Given the description of an element on the screen output the (x, y) to click on. 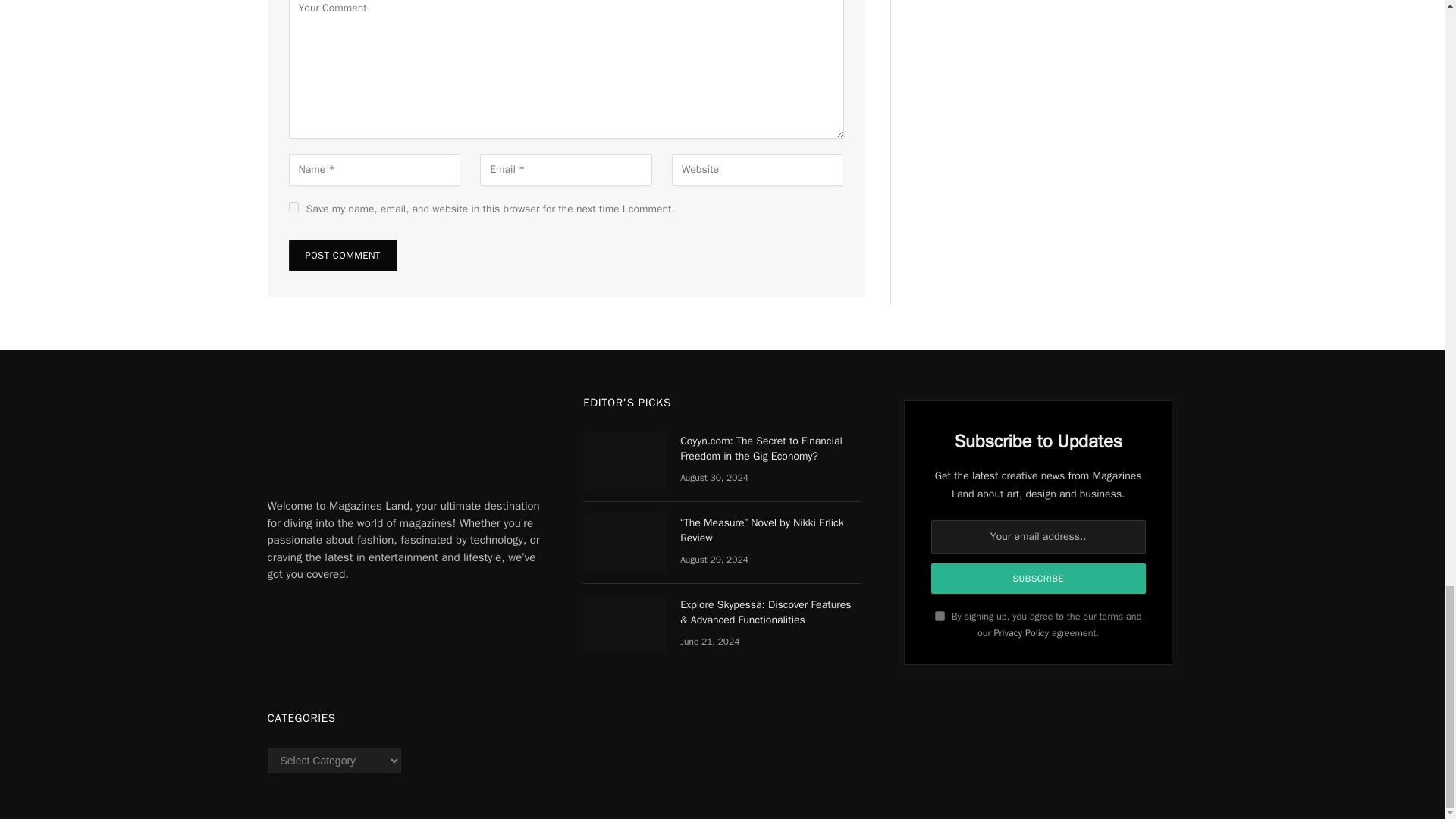
Subscribe (1038, 578)
yes (293, 207)
Post Comment (342, 255)
Post Comment (342, 255)
on (939, 615)
